Given the description of an element on the screen output the (x, y) to click on. 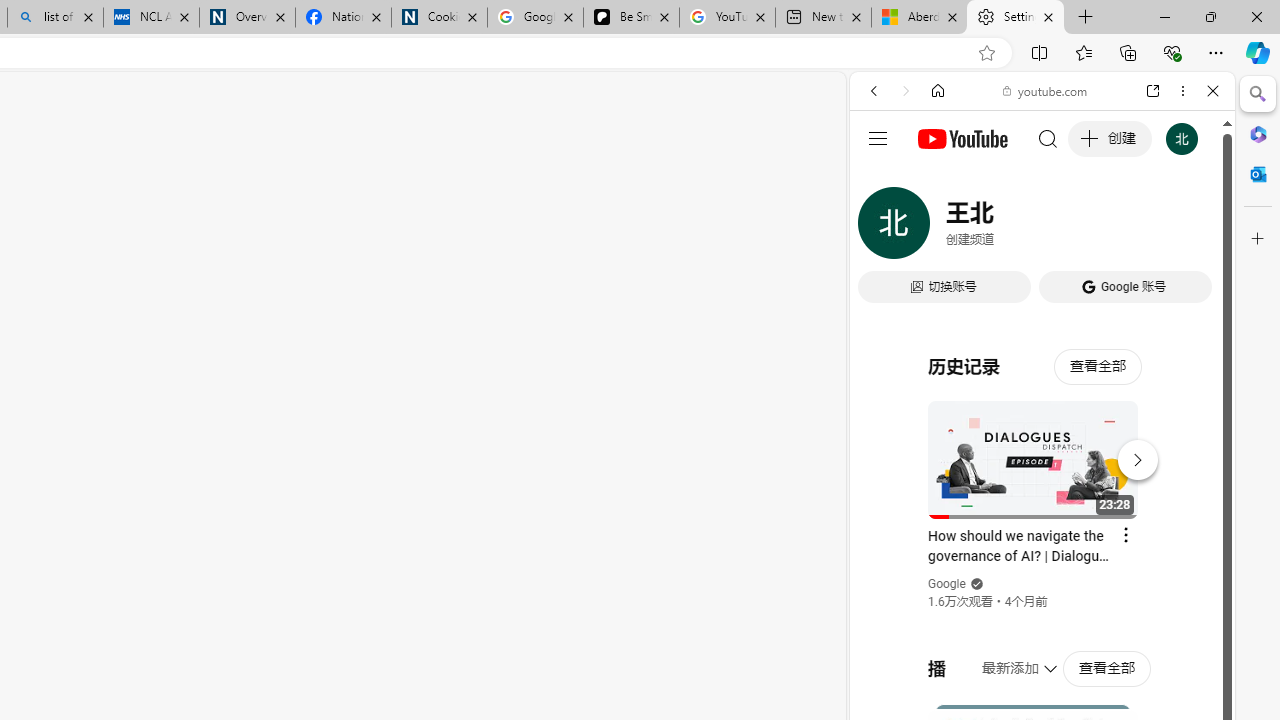
Search Filter, WEB (882, 228)
Search the web (1051, 137)
Search Filter, VIDEOS (1006, 228)
NCL Adult Asthma Inhaler Choice Guideline (150, 17)
